Given the description of an element on the screen output the (x, y) to click on. 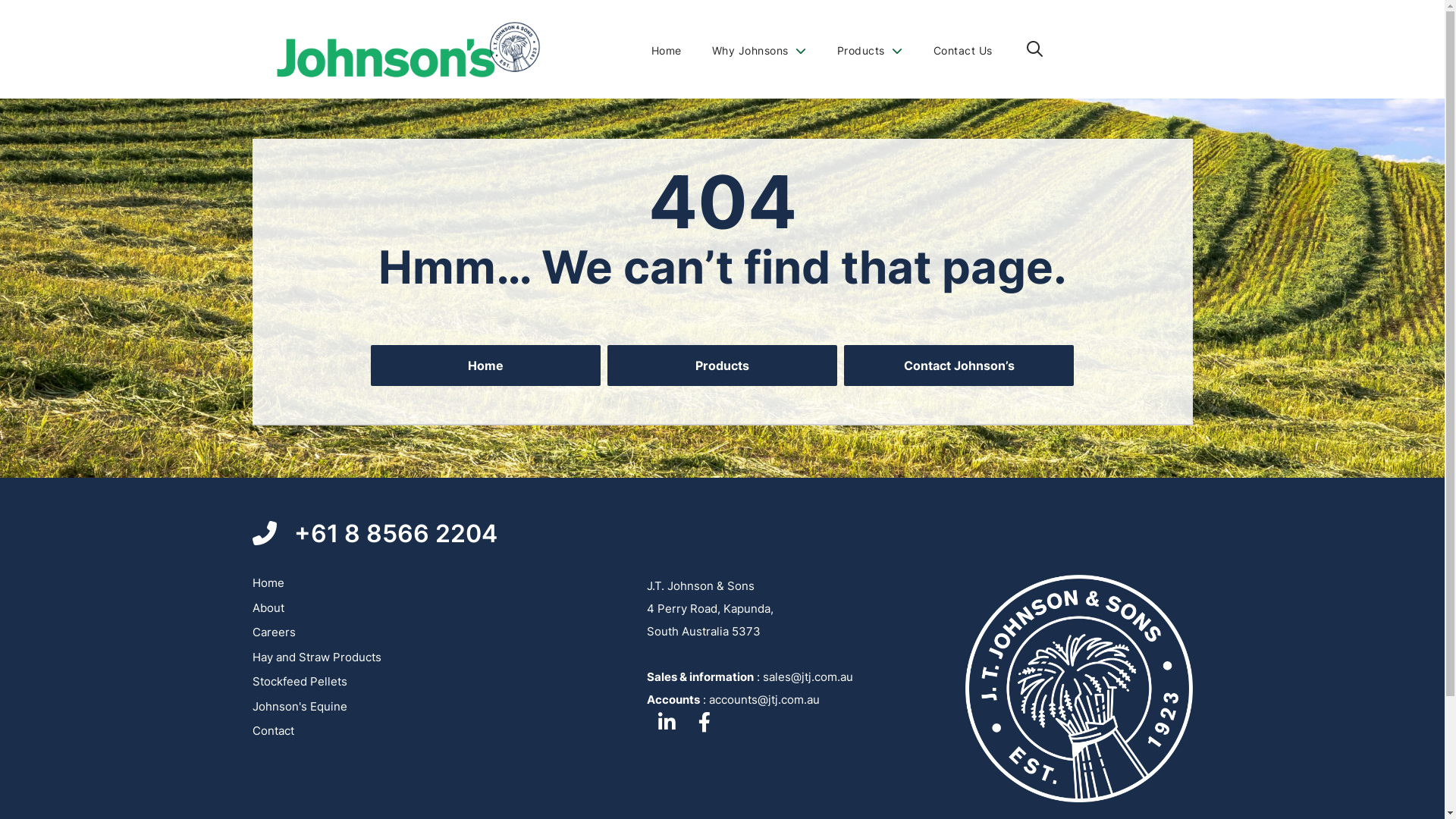
accounts@jtj.com.au Element type: text (763, 699)
Contact Us Element type: text (962, 50)
Home Element type: text (665, 50)
Home Element type: text (485, 365)
Johnson's Equine Element type: text (298, 706)
Products Element type: text (870, 50)
Careers Element type: text (272, 631)
Home Element type: text (267, 582)
sales@jtj.com.au Element type: text (807, 676)
Contact Element type: text (272, 730)
Stockfeed Pellets Element type: text (298, 681)
Why Johnsons Element type: text (758, 50)
Hay and Straw Products Element type: text (315, 656)
Products Element type: text (722, 365)
+61 8 8566 2204 Element type: text (373, 533)
About Element type: text (267, 607)
